Given the description of an element on the screen output the (x, y) to click on. 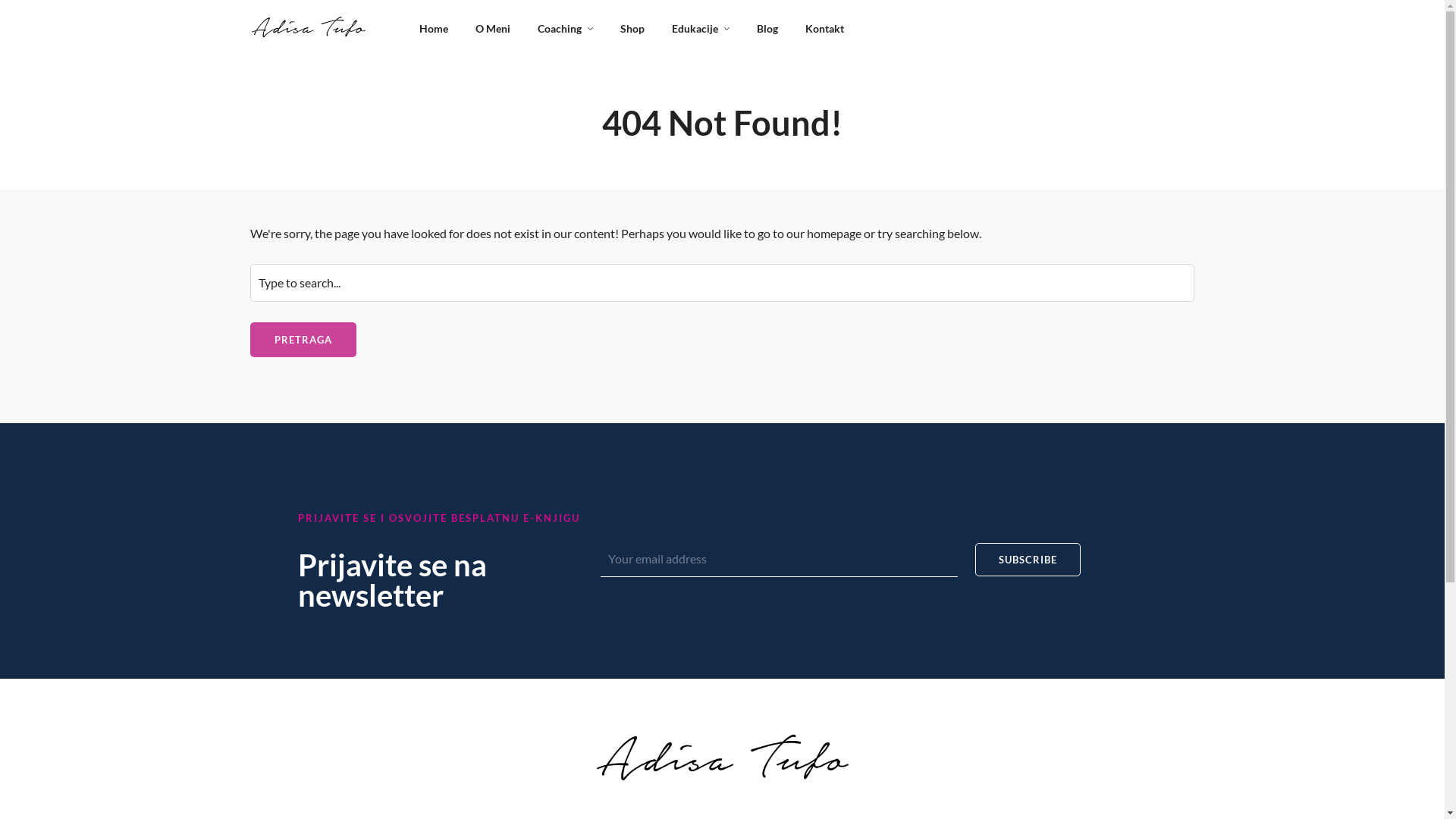
Edukacije Element type: text (702, 28)
Kontakt Element type: text (827, 28)
Subscribe Element type: text (1027, 559)
O Meni Element type: text (495, 28)
Coaching Element type: text (567, 28)
Blog Element type: text (769, 28)
Pretraga Element type: text (303, 339)
Shop Element type: text (634, 28)
Home Element type: text (436, 28)
